Given the description of an element on the screen output the (x, y) to click on. 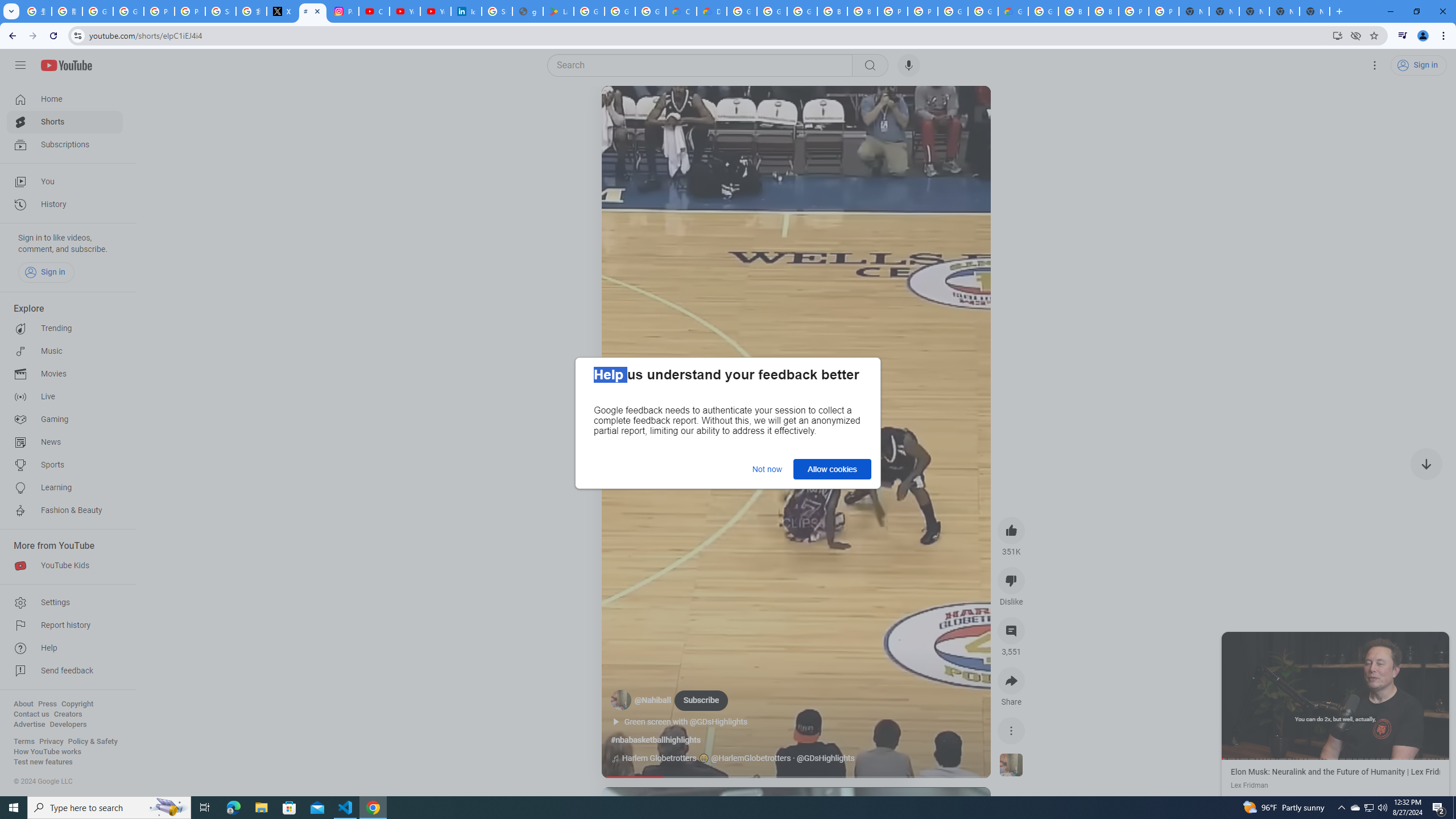
Browse Chrome as a guest - Computer - Google Chrome Help (862, 11)
Advertise (29, 724)
Google Cloud Platform (982, 11)
YouTube Home (66, 65)
Shorts (64, 121)
X (282, 11)
Mute (660, 108)
YouTube Kids (64, 565)
Privacy Help Center - Policies Help (189, 11)
Browse Chrome as a guest - Computer - Google Chrome Help (832, 11)
Test new features (42, 761)
